Given the description of an element on the screen output the (x, y) to click on. 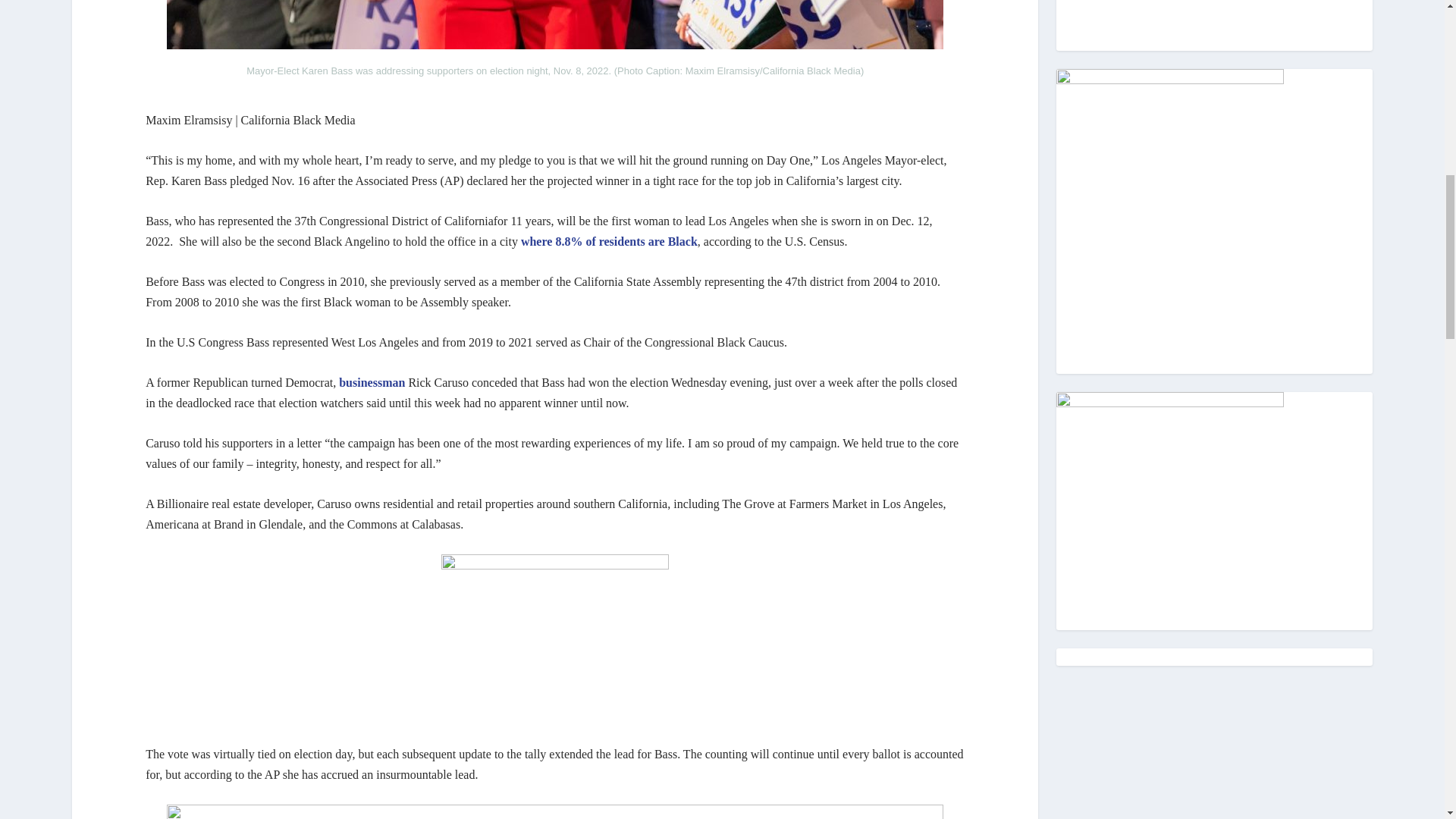
where (536, 241)
businessman (371, 382)
